Given the description of an element on the screen output the (x, y) to click on. 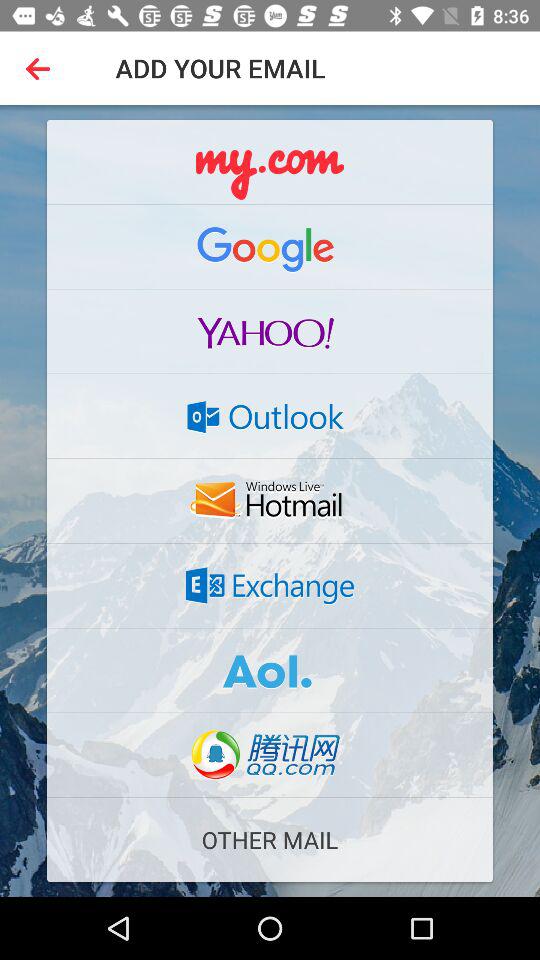
button to select the email account (269, 501)
